Given the description of an element on the screen output the (x, y) to click on. 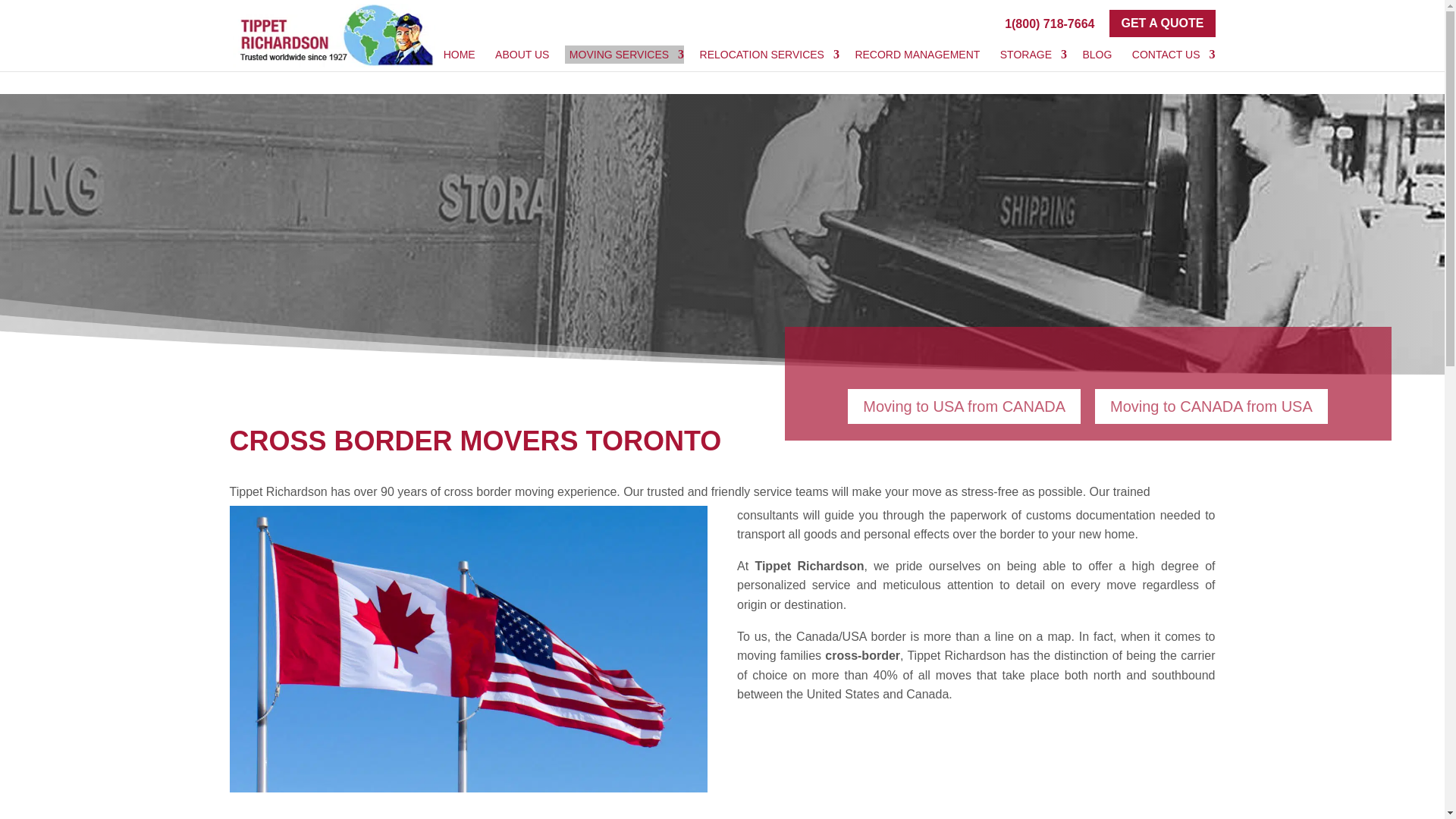
HOME (459, 54)
GET A QUOTE (1161, 22)
RECORD MANAGEMENT (917, 54)
STORAGE (1031, 54)
MOVING SERVICES (624, 54)
BLOG (1096, 54)
ABOUT US (521, 54)
RELOCATION SERVICES (767, 54)
CONTACT US (1170, 54)
